Given the description of an element on the screen output the (x, y) to click on. 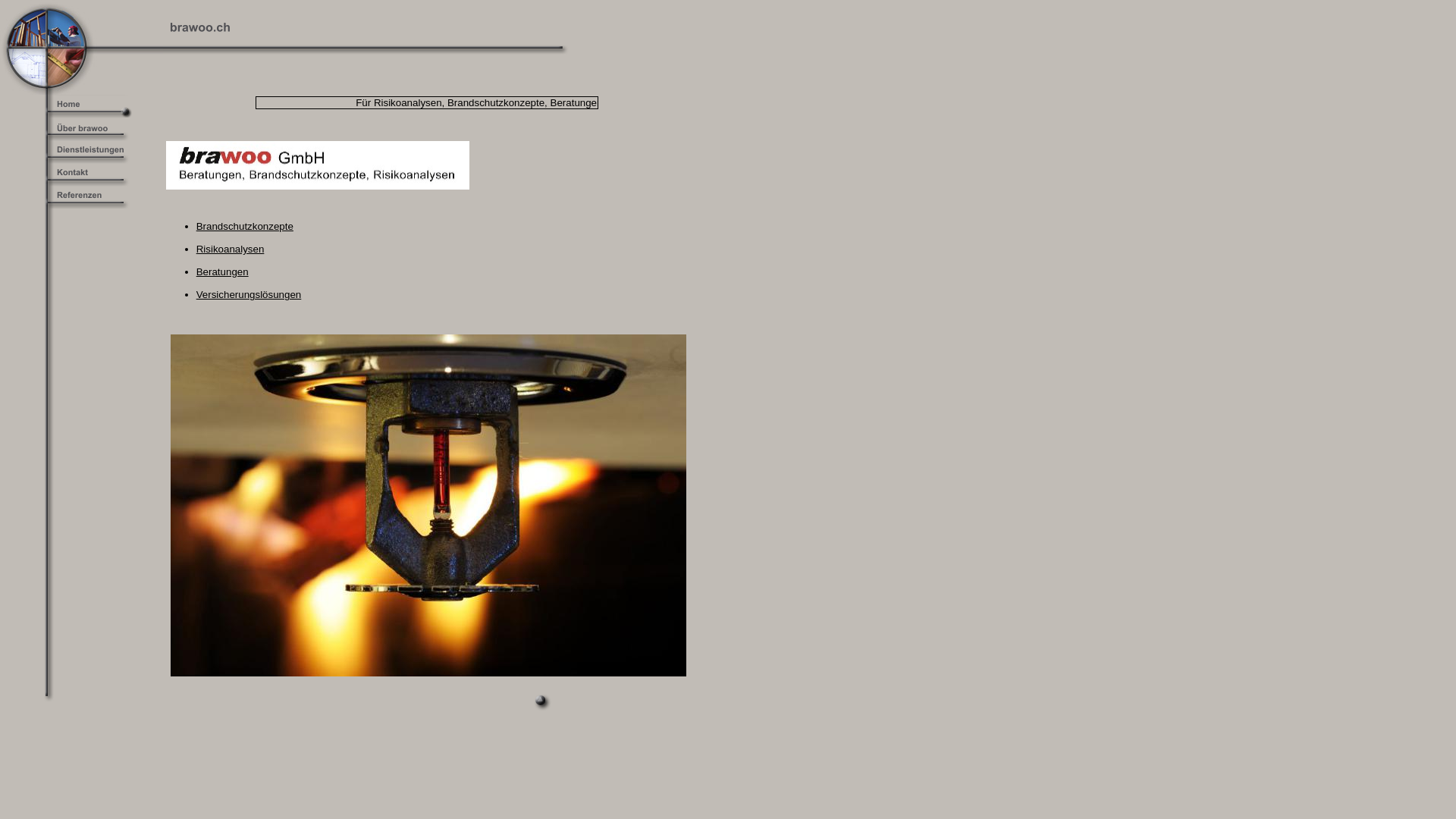
Beratungen Element type: text (222, 271)
Risikoanalysen Element type: text (230, 248)
Brandschutzkonzepte Element type: text (244, 226)
